Given the description of an element on the screen output the (x, y) to click on. 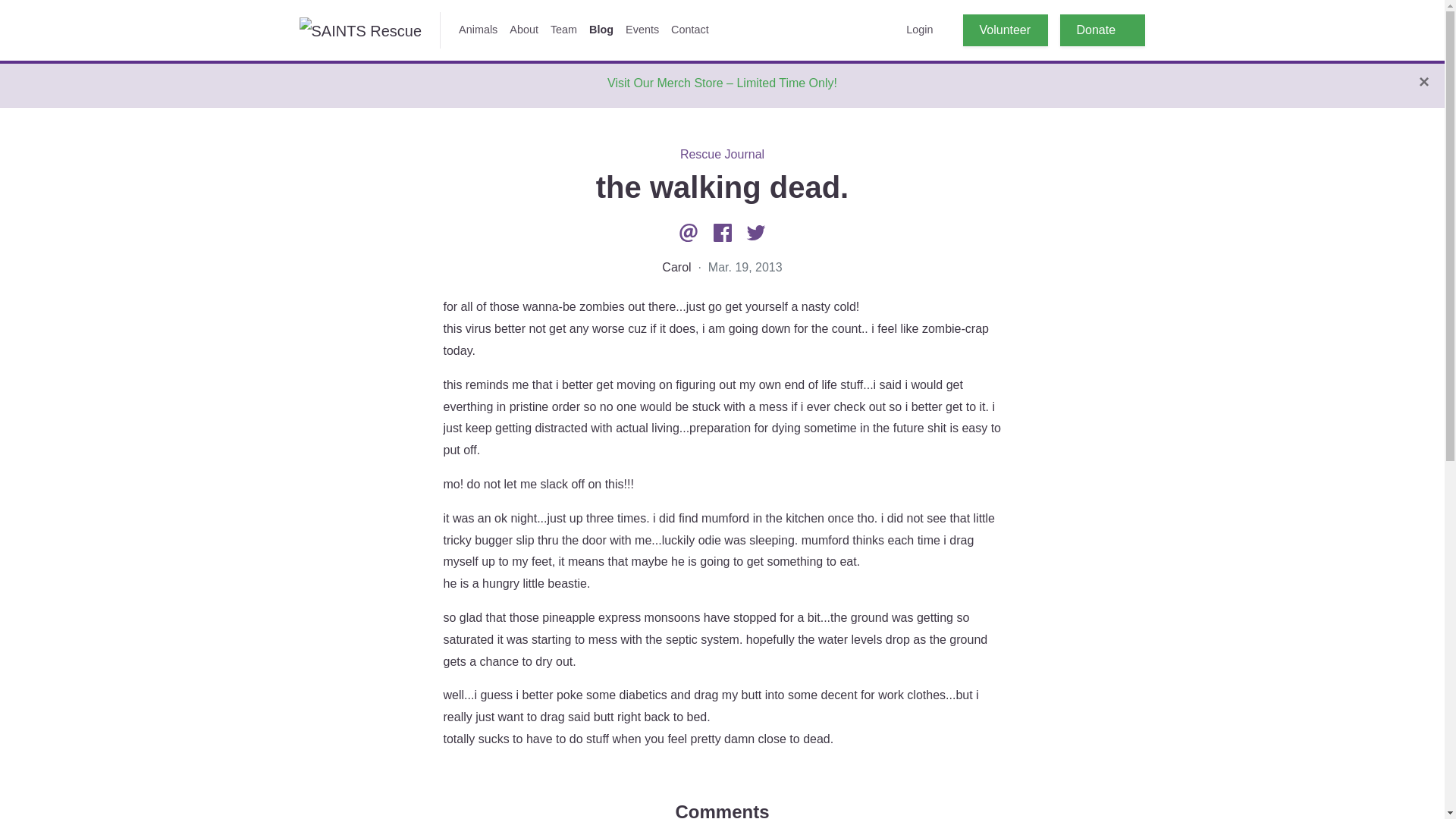
Login (919, 29)
Volunteer (1005, 30)
Blog (601, 29)
Twitter (756, 231)
Donate (1101, 30)
Animals (477, 29)
Events (642, 29)
Team (563, 29)
Contact (689, 29)
About (523, 29)
